Given the description of an element on the screen output the (x, y) to click on. 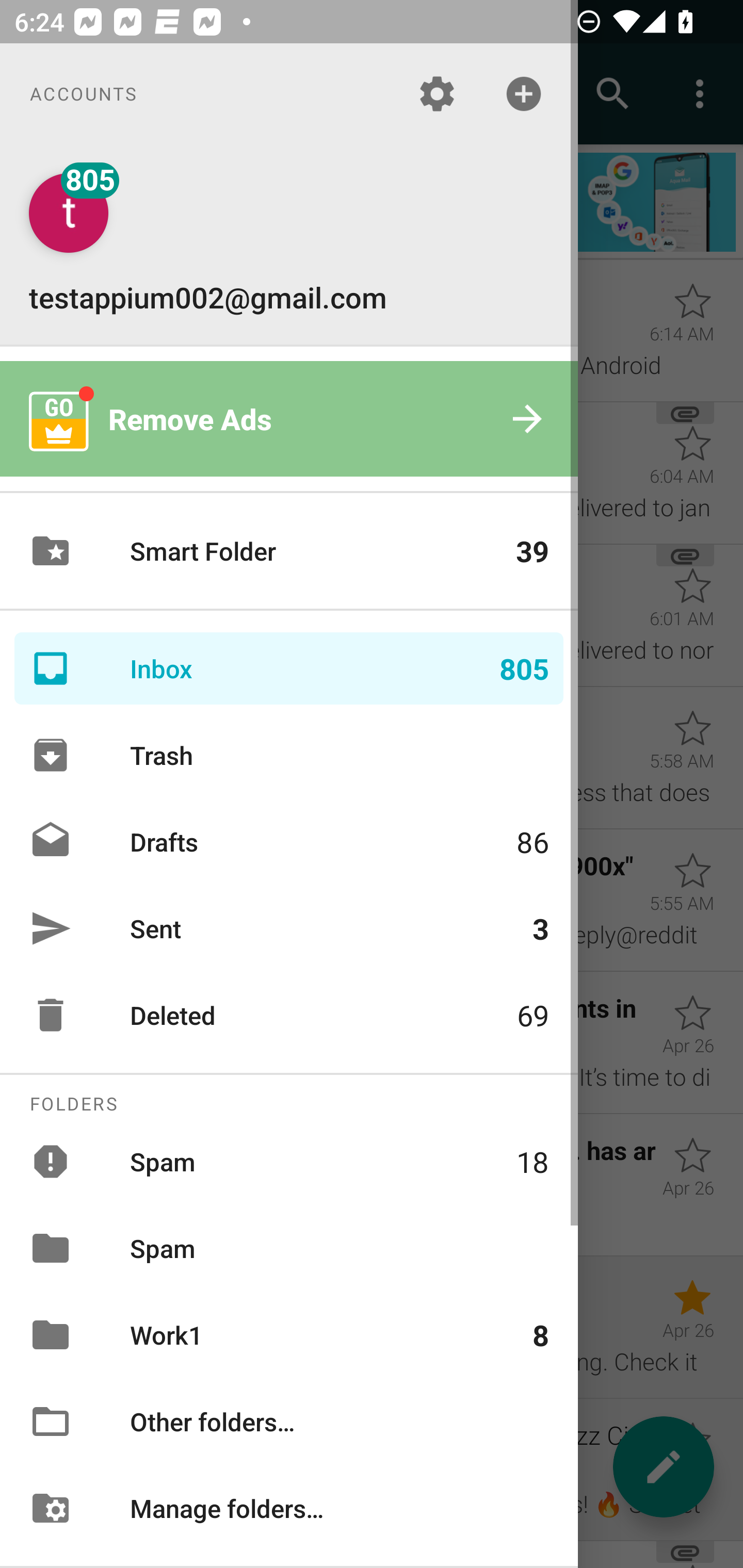
testappium002@gmail.com (289, 244)
Remove Ads (289, 418)
Smart Folder 39 (289, 551)
Inbox 805 (289, 668)
Trash (289, 754)
Drafts 86 (289, 841)
Sent 3 (289, 928)
Deleted 69 (289, 1015)
Spam 18 (289, 1160)
Spam (289, 1248)
Work1 8 (289, 1335)
Other folders… (289, 1421)
Manage folders… (289, 1507)
